Given the description of an element on the screen output the (x, y) to click on. 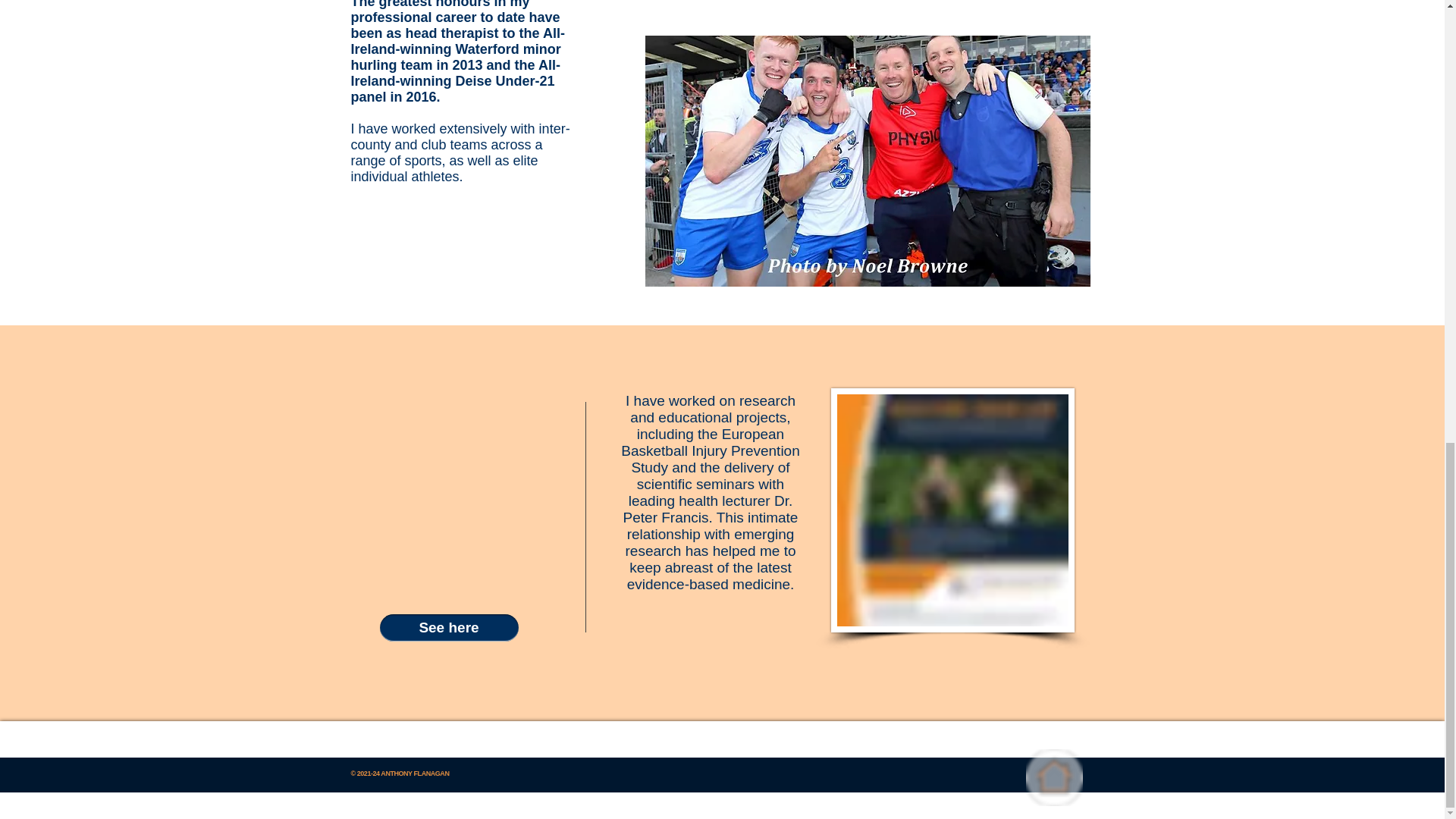
See here (448, 627)
use flan bg.JPG (867, 161)
run.JPG (952, 510)
